Given the description of an element on the screen output the (x, y) to click on. 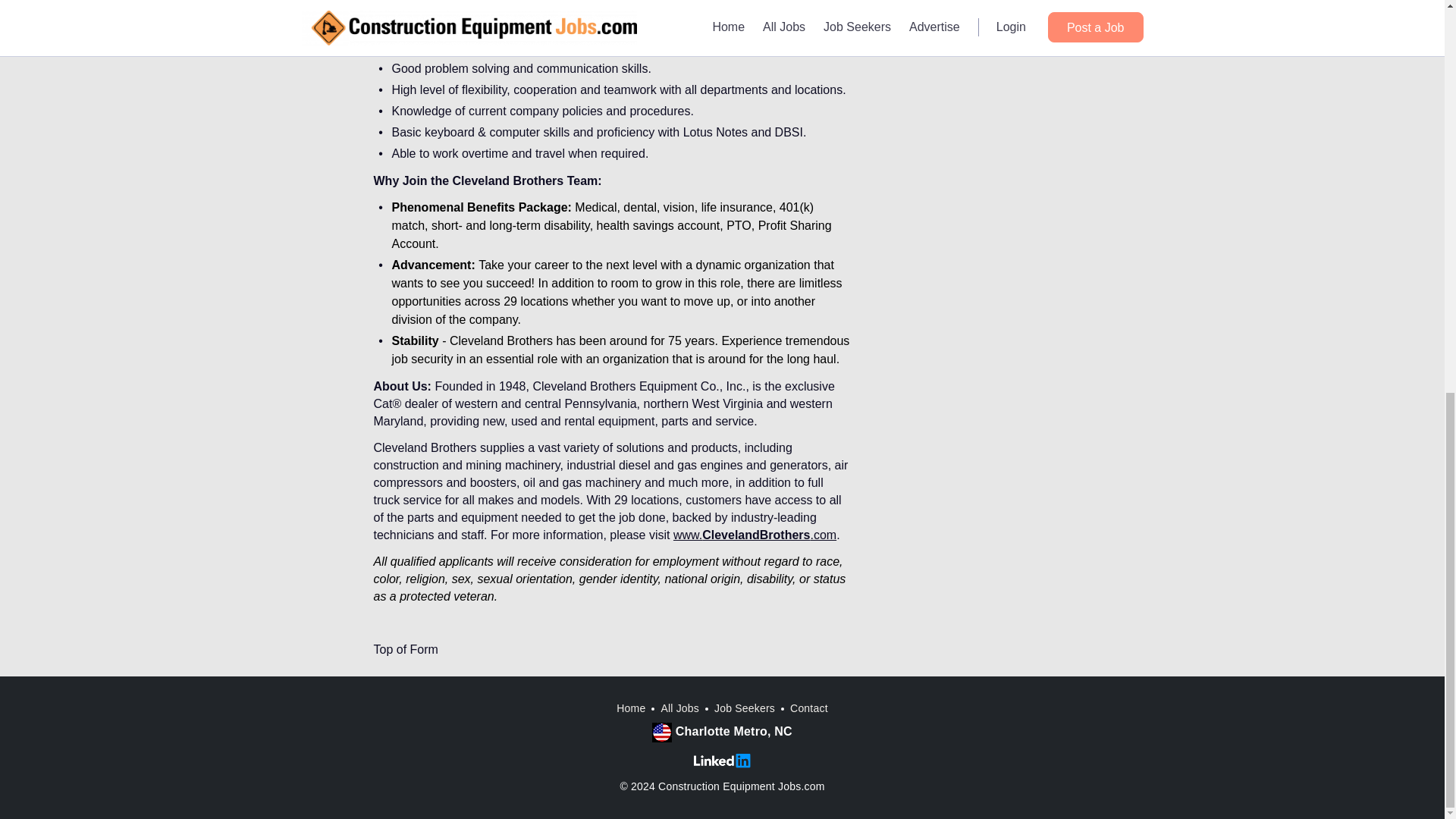
Home (630, 708)
Contact (809, 708)
Job Seekers (744, 708)
www.ClevelandBrothers.com (753, 534)
All Jobs (679, 708)
